Given the description of an element on the screen output the (x, y) to click on. 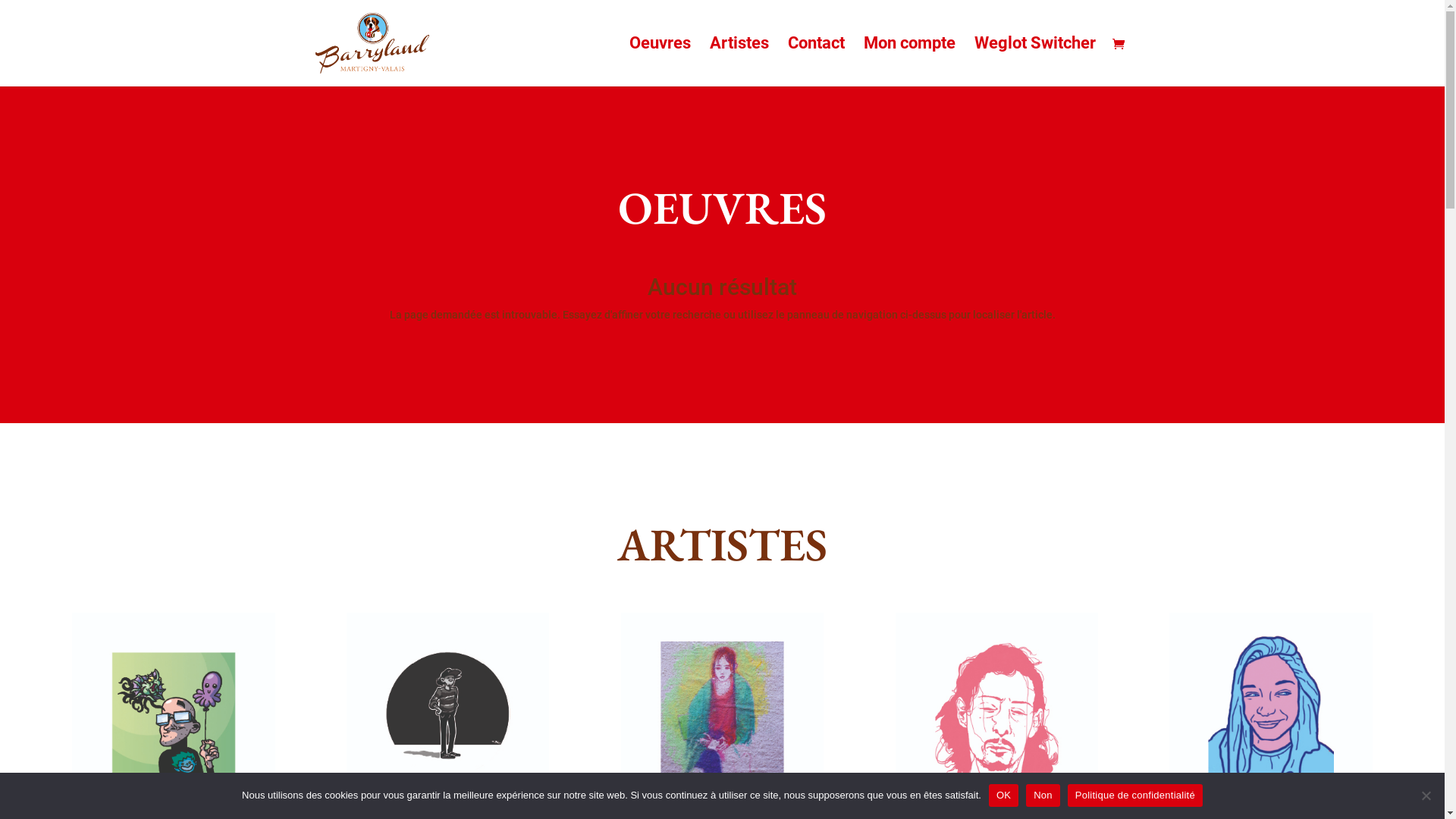
OK Element type: text (1003, 795)
Non Element type: hover (1425, 795)
Clement_Chassot-100 Element type: hover (996, 713)
Contact Element type: text (815, 61)
Oeuvres Element type: text (659, 61)
Aline_Savioz-100 Element type: hover (1270, 713)
Guillaume_Mayor-100 Element type: hover (173, 713)
Maeva_Lamberti-100 Element type: hover (722, 713)
Mon compte Element type: text (908, 61)
Artistes Element type: text (738, 61)
David_Berod-100 Element type: hover (447, 713)
Weglot Switcher Element type: text (1034, 61)
Non Element type: text (1043, 795)
